Given the description of an element on the screen output the (x, y) to click on. 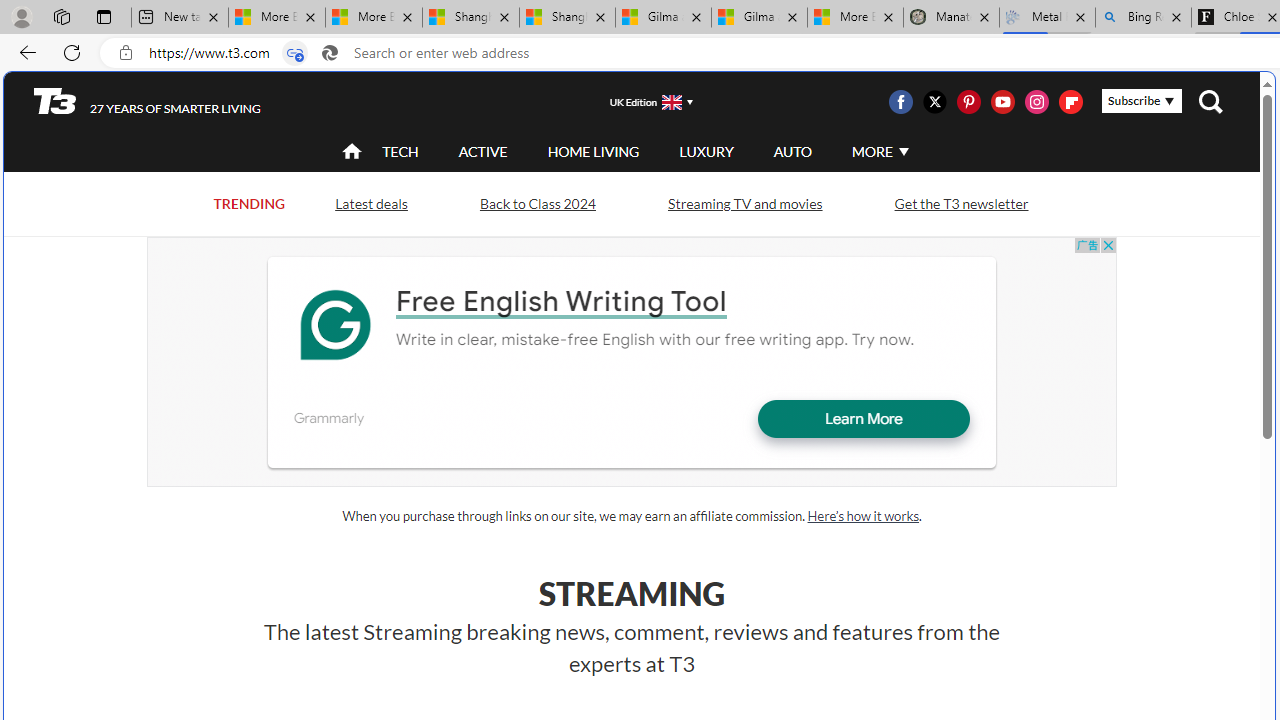
Streaming TV and movies (744, 204)
Latest deals (370, 204)
Subscribe (1141, 101)
UK Edition (643, 101)
LUXURY (705, 151)
TECH (399, 151)
Class: svg-arrow-down (903, 151)
Back to Class 2024 (537, 204)
Back to Class 2024 (537, 202)
Visit us on Youtube (1002, 101)
flag of UK (672, 102)
